Given the description of an element on the screen output the (x, y) to click on. 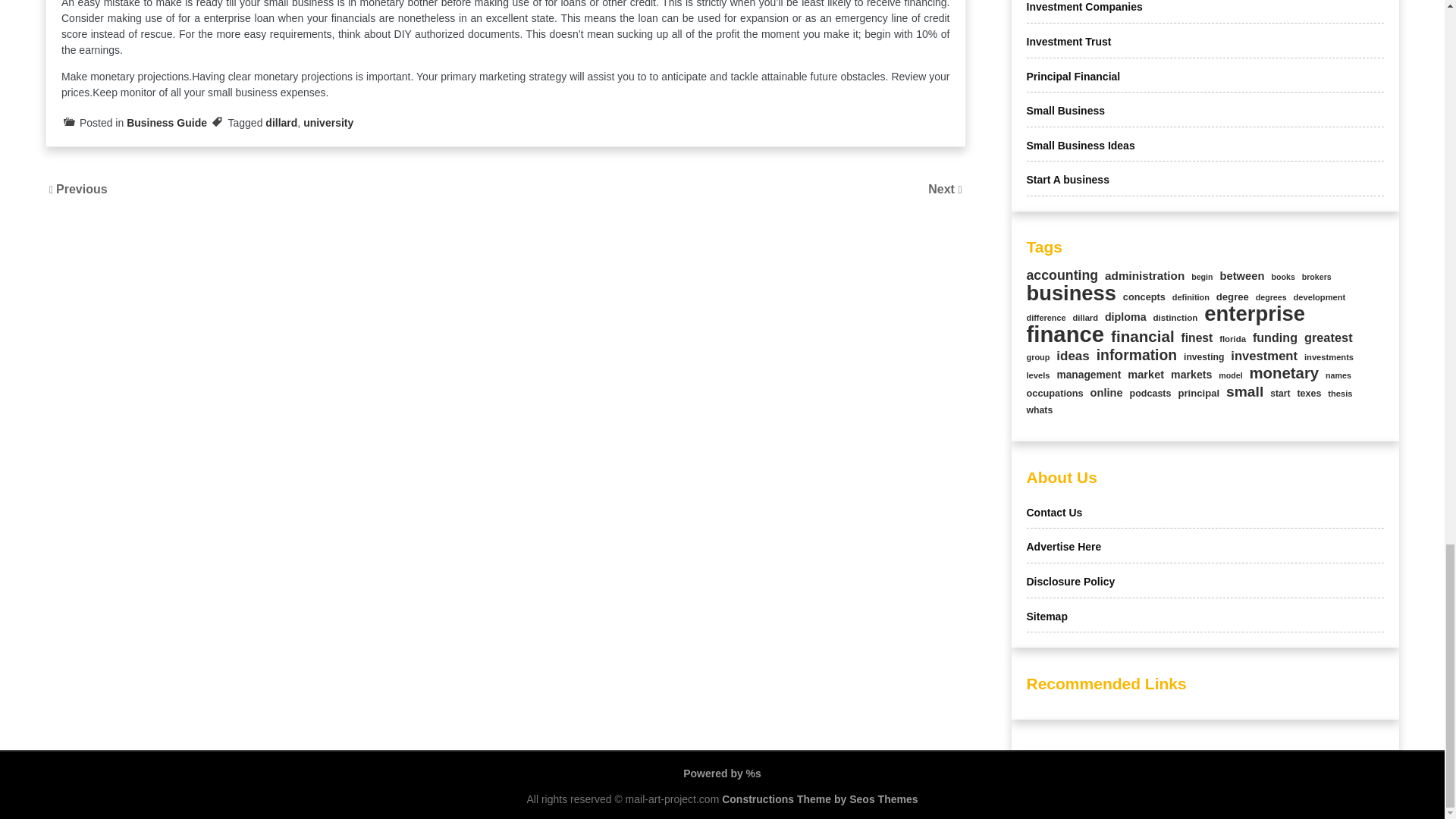
university (327, 122)
Previous (81, 188)
Next (943, 188)
Seos Theme - Constructions (819, 799)
dillard (280, 122)
Business Guide (166, 122)
